Given the description of an element on the screen output the (x, y) to click on. 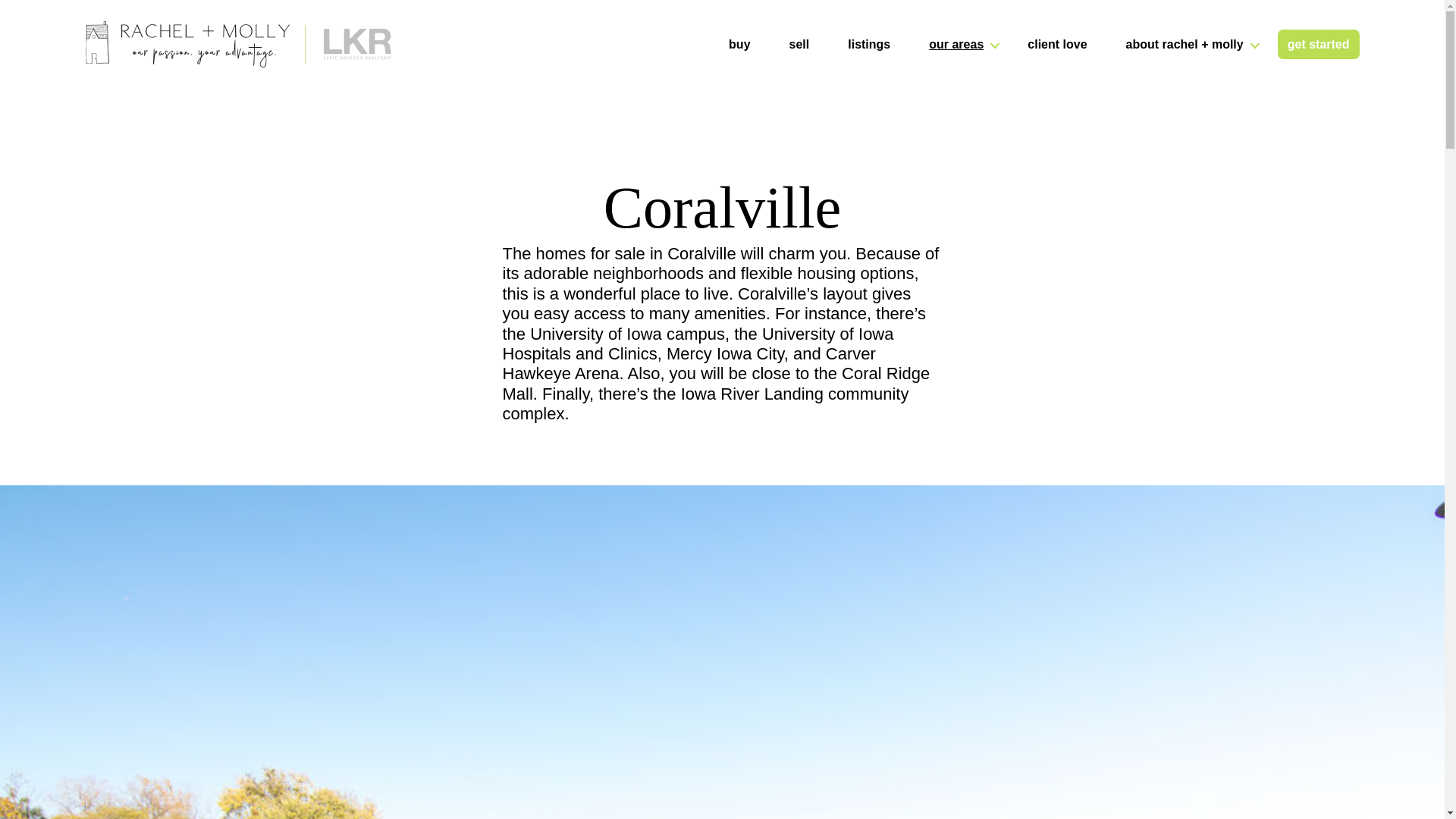
buy (739, 43)
our areas (958, 43)
listings (868, 43)
get started (1318, 43)
client love (1056, 43)
sell (798, 43)
